Given the description of an element on the screen output the (x, y) to click on. 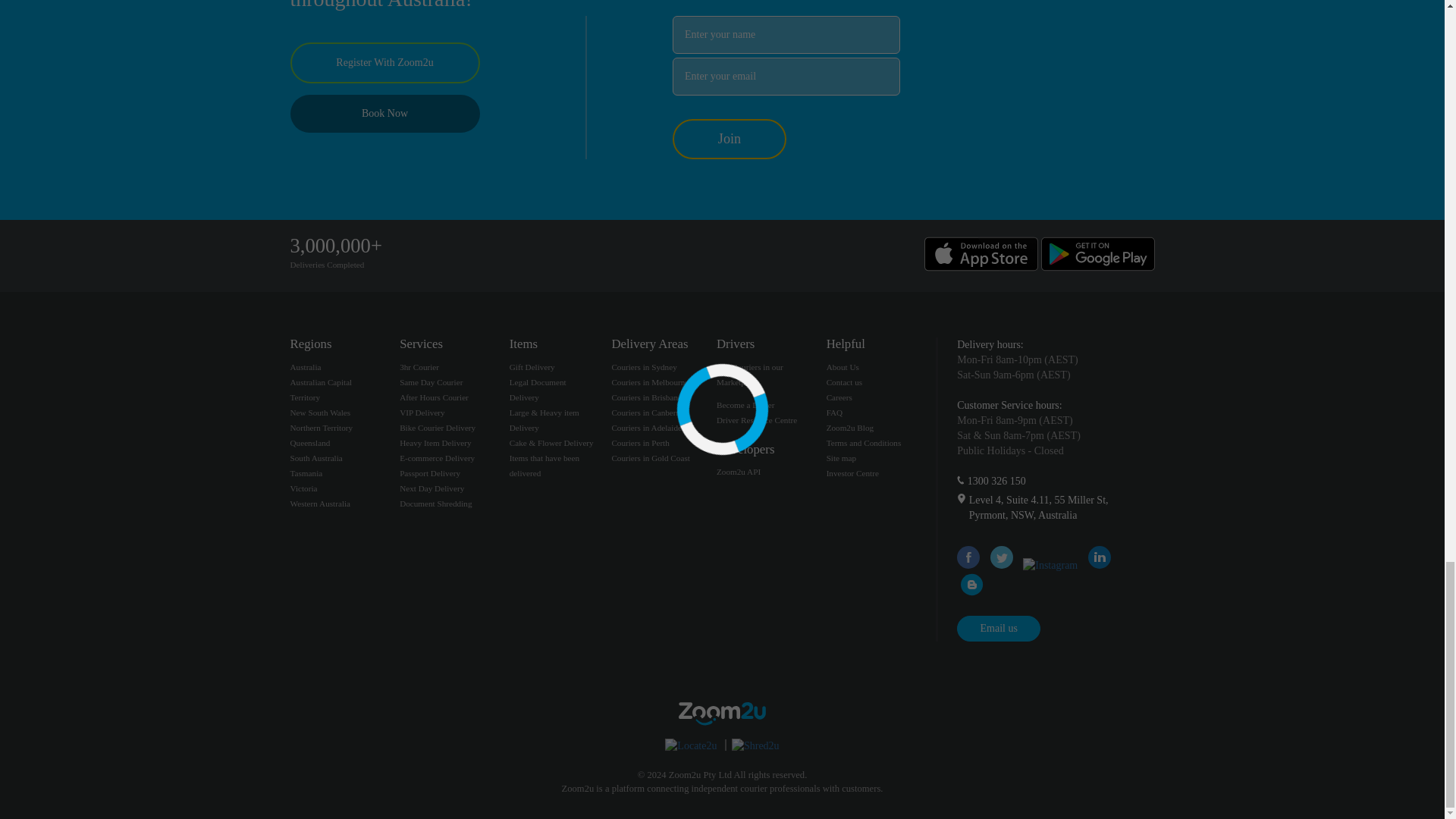
Join (729, 138)
